Given the description of an element on the screen output the (x, y) to click on. 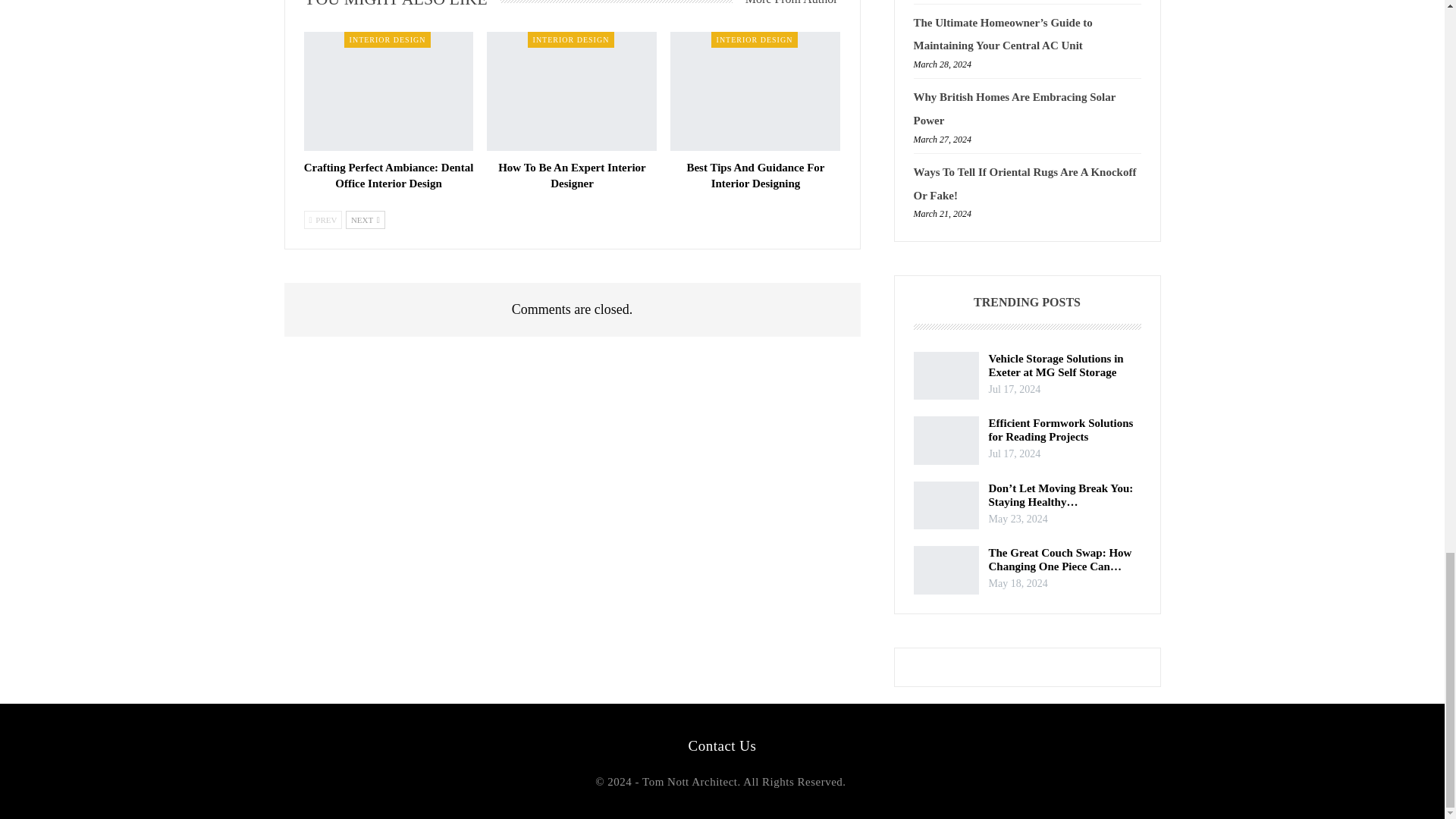
How to be an expert Interior Designer (571, 175)
INTERIOR DESIGN (754, 39)
Best Tips and Guidance for Interior Designing (754, 175)
Next (365, 219)
More From Author (786, 8)
How to be an expert Interior Designer (571, 90)
Best Tips and Guidance for Interior Designing (754, 90)
Crafting Perfect Ambiance: Dental Office Interior Design (389, 175)
Vehicle Storage Solutions in Exeter at MG Self Storage (945, 376)
Previous (322, 219)
